Given the description of an element on the screen output the (x, y) to click on. 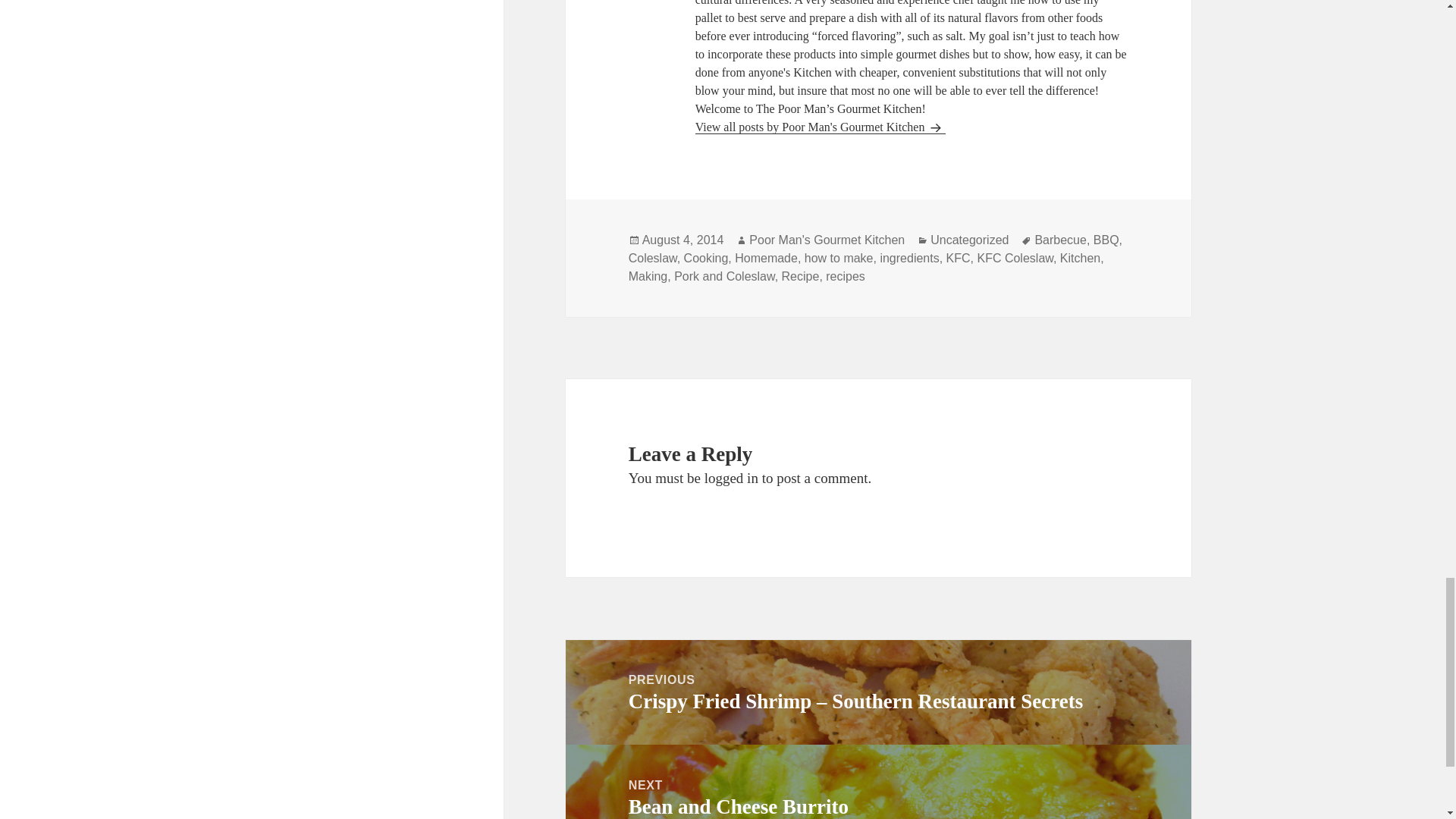
August 4, 2014 (682, 240)
Kitchen (1079, 258)
View all posts by Poor Man's Gourmet Kitchen (820, 127)
Homemade (766, 258)
Recipe (800, 276)
Making (648, 276)
Cooking (706, 258)
Uncategorized (969, 240)
ingredients (909, 258)
logged in (731, 478)
KFC Coleslaw (1014, 258)
Coleslaw (652, 258)
KFC (958, 258)
recipes (844, 276)
BBQ (1106, 240)
